Given the description of an element on the screen output the (x, y) to click on. 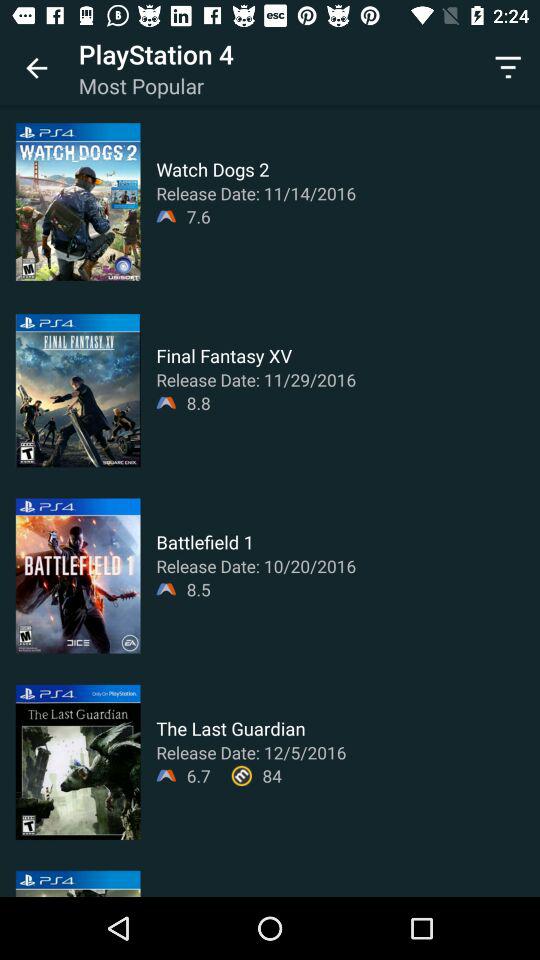
tap app next to playstation 4 item (508, 67)
